Given the description of an element on the screen output the (x, y) to click on. 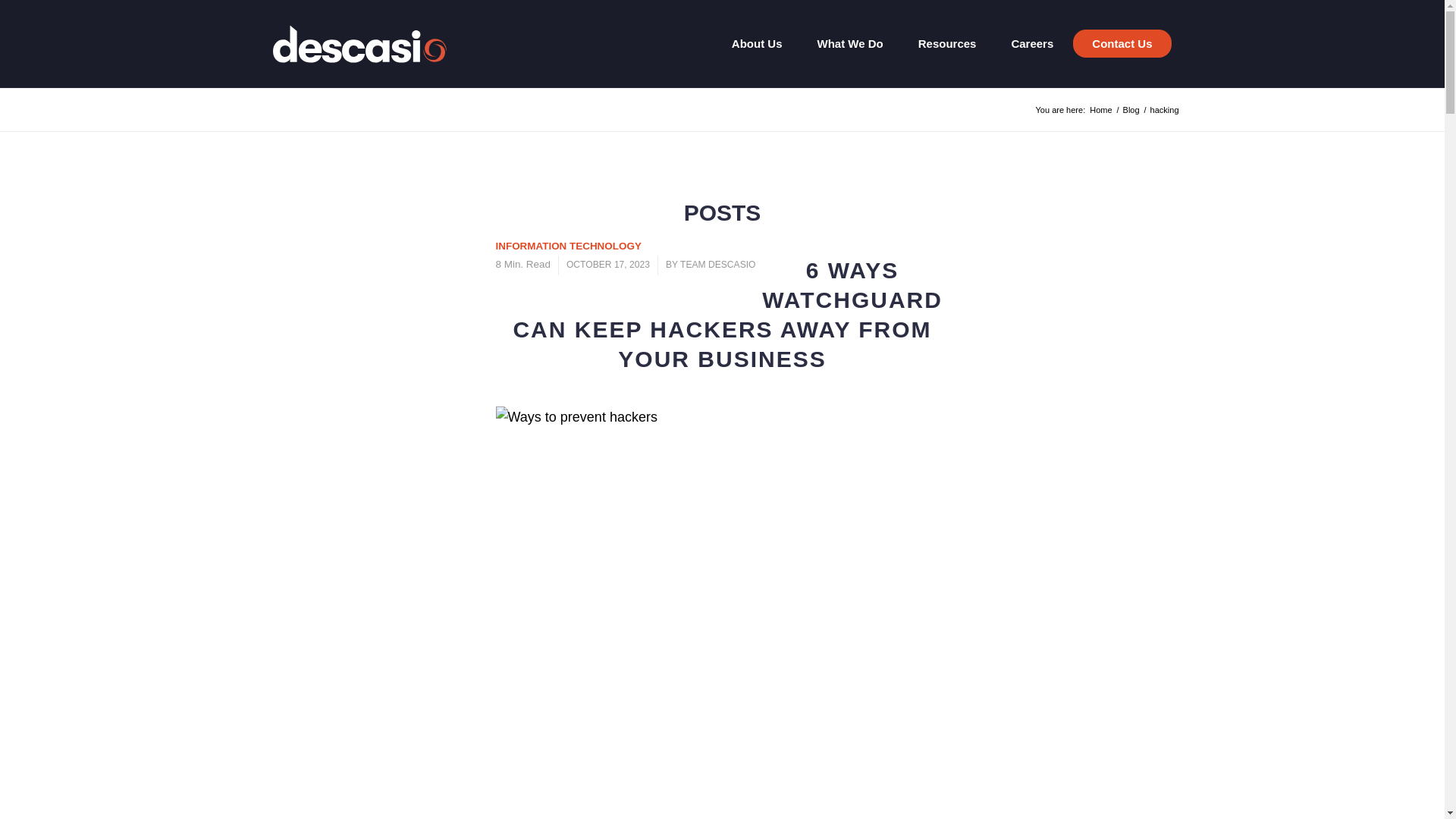
Home (1100, 110)
Descasio (1100, 110)
Careers (1023, 43)
Posts by Team Descasio (717, 264)
What We Do (842, 43)
About Us (749, 43)
Resources (940, 43)
6 WAYS WATCHGUARD CAN KEEP HACKERS AWAY FROM YOUR BUSINESS (727, 314)
INFORMATION TECHNOLOGY (569, 245)
TEAM DESCASIO (717, 264)
Blog (1131, 110)
Blog (1131, 110)
Contact Us (1121, 43)
